Given the description of an element on the screen output the (x, y) to click on. 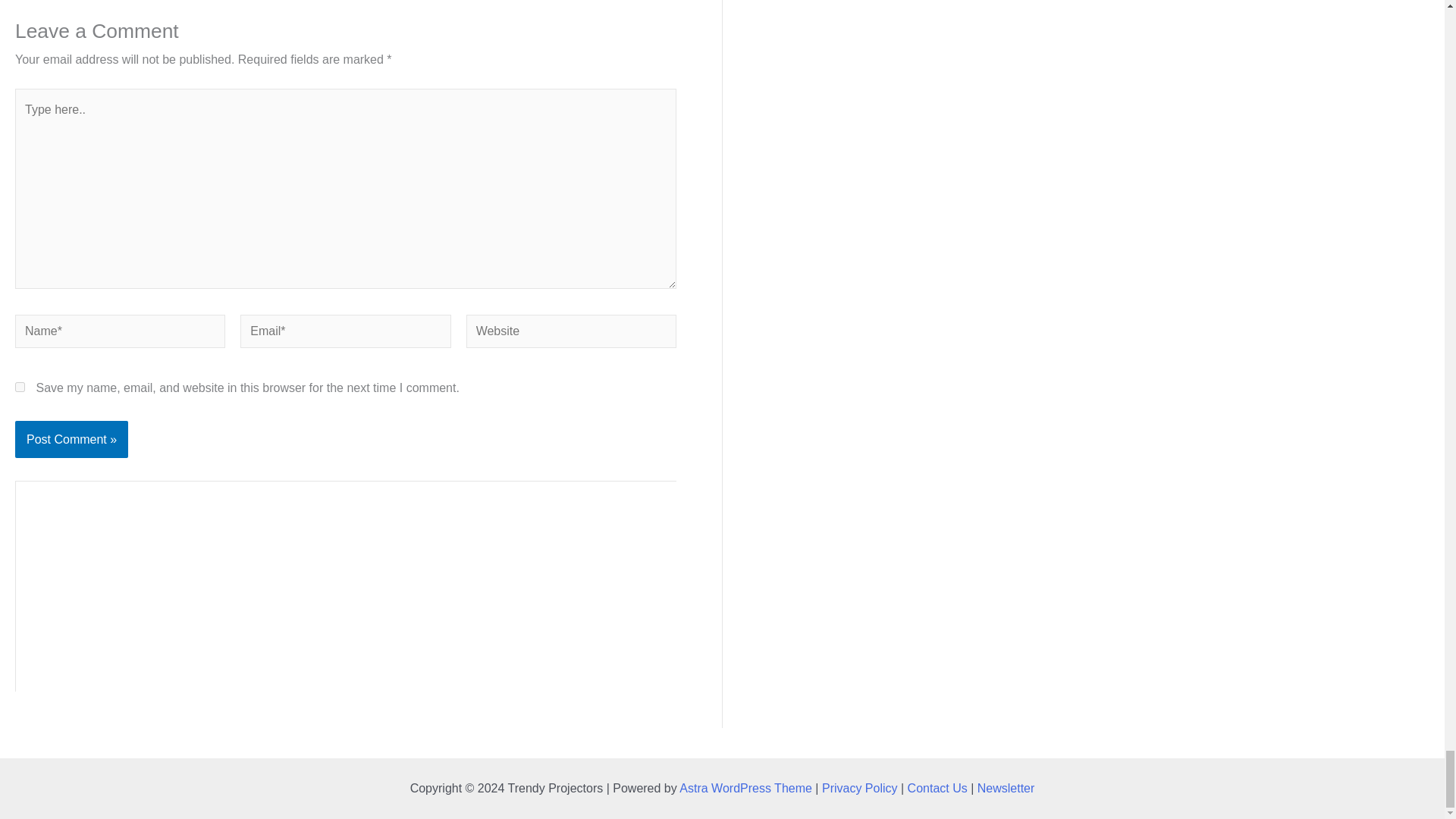
yes (19, 387)
